Given the description of an element on the screen output the (x, y) to click on. 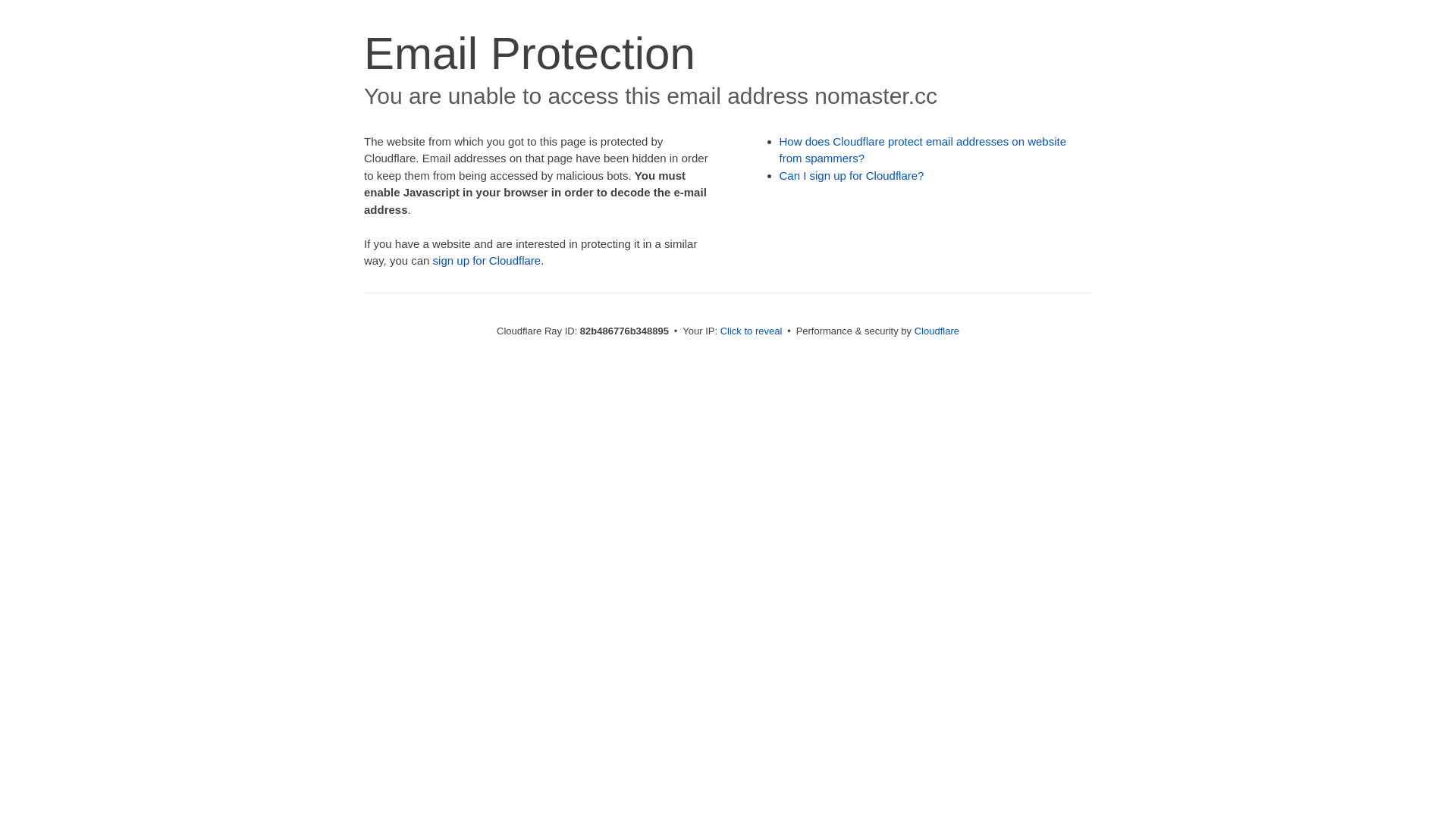
Click to reveal Element type: text (751, 330)
sign up for Cloudflare Element type: text (487, 260)
Cloudflare Element type: text (936, 330)
Can I sign up for Cloudflare? Element type: text (851, 175)
